Given the description of an element on the screen output the (x, y) to click on. 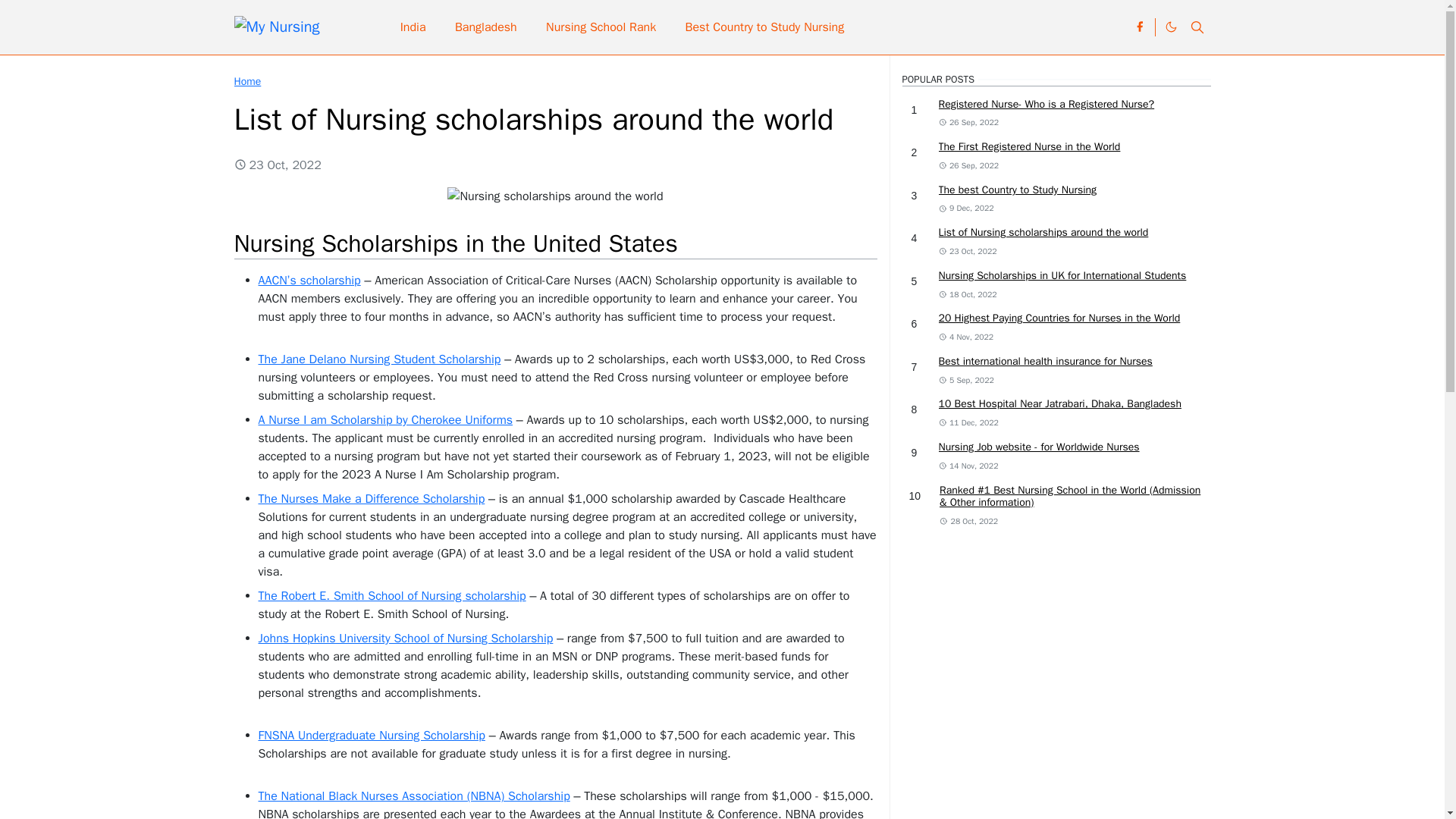
The Robert E. Smith School of Nursing scholarship (391, 595)
3 (914, 196)
4 (914, 238)
20 Highest Paying Countries for Nurses in the World (1059, 318)
10 Best Hospital Near Jatrabari, Dhaka, Bangladesh (1059, 403)
Best international health insurance for Nurses (1046, 360)
9 (914, 453)
Nursing School Rank (600, 27)
The Nurses Make a Difference Scholarship (370, 498)
Nursing Scholarships in UK for International Students (1062, 275)
List of Nursing scholarships around the world (1043, 232)
Registered Nurse- Who is a Registered Nurse? (1046, 103)
8 (914, 410)
The Jane Delano Nursing Student Scholarship (378, 359)
Home (246, 81)
